Given the description of an element on the screen output the (x, y) to click on. 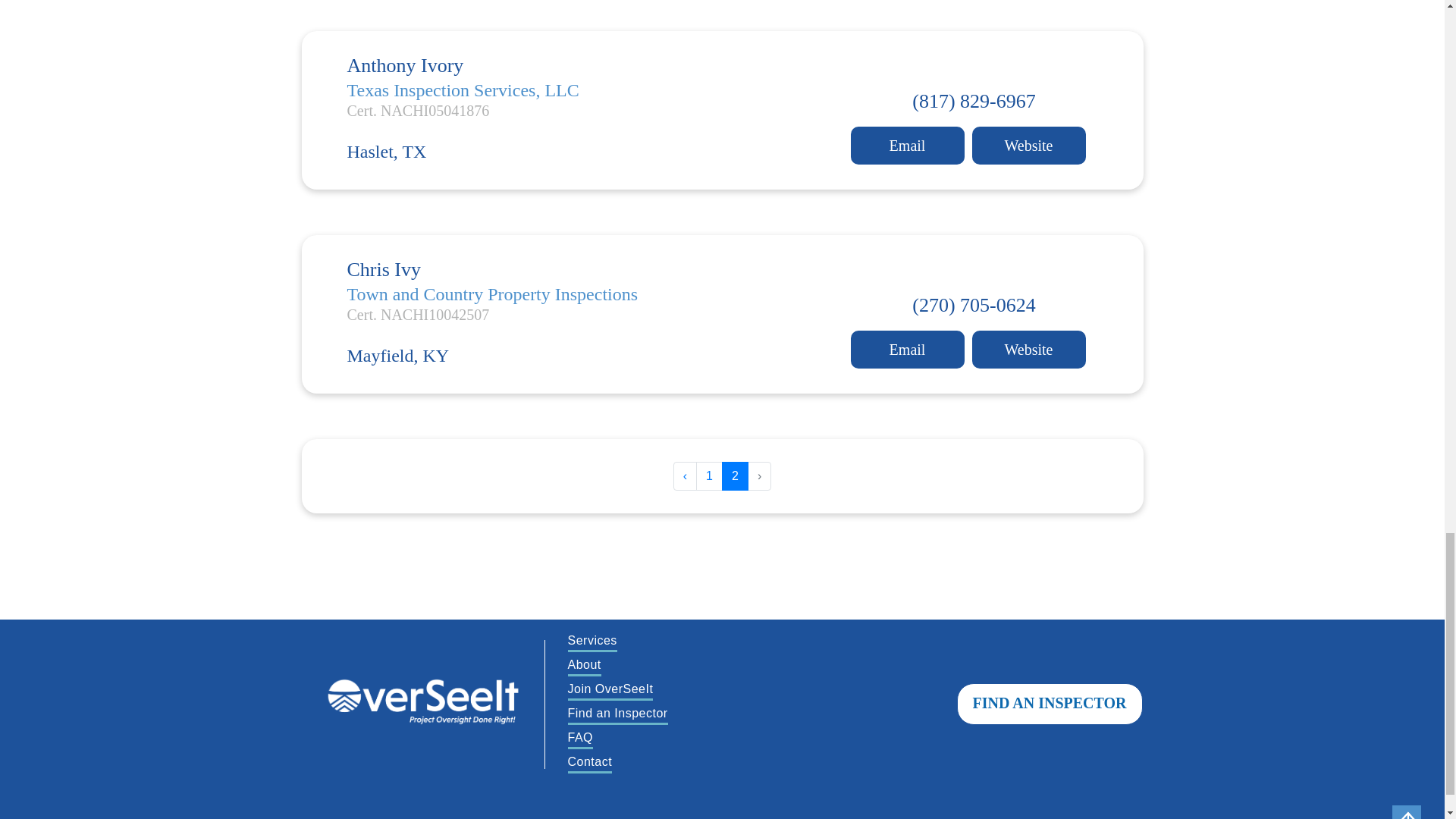
Contact (589, 762)
FAQ (579, 738)
Logo (422, 704)
Find an Inspector (616, 714)
About (583, 666)
Join OverSeeIt (609, 690)
Services (591, 641)
